Given the description of an element on the screen output the (x, y) to click on. 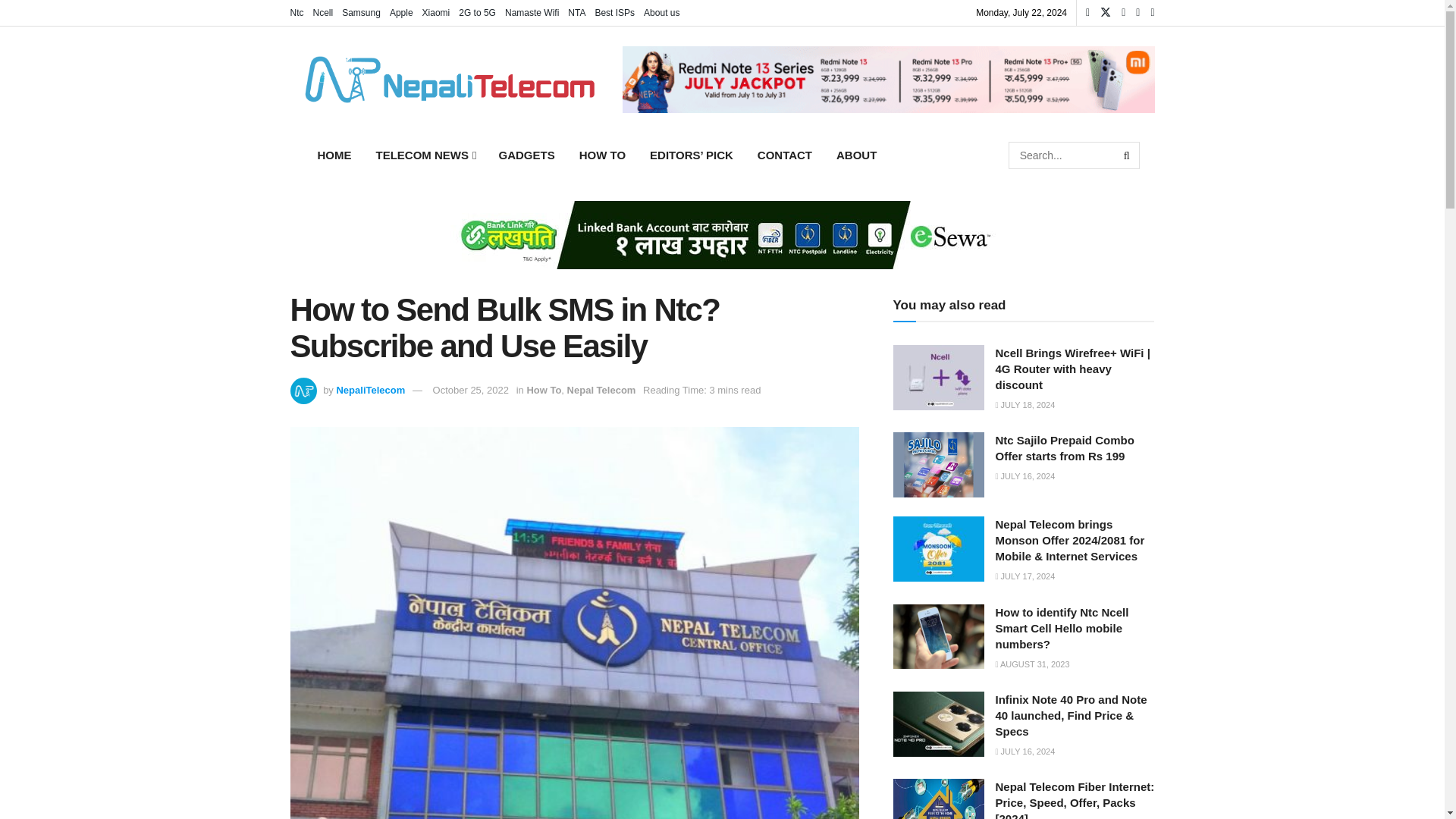
HOW TO (602, 155)
Best ISPs (614, 12)
About us (661, 12)
Xiaomi (435, 12)
HOME (333, 155)
Namaste Wifi (532, 12)
Samsung (361, 12)
GADGETS (526, 155)
Apple (401, 12)
CONTACT (784, 155)
TELECOM NEWS (425, 155)
ABOUT (856, 155)
2G to 5G (477, 12)
